Given the description of an element on the screen output the (x, y) to click on. 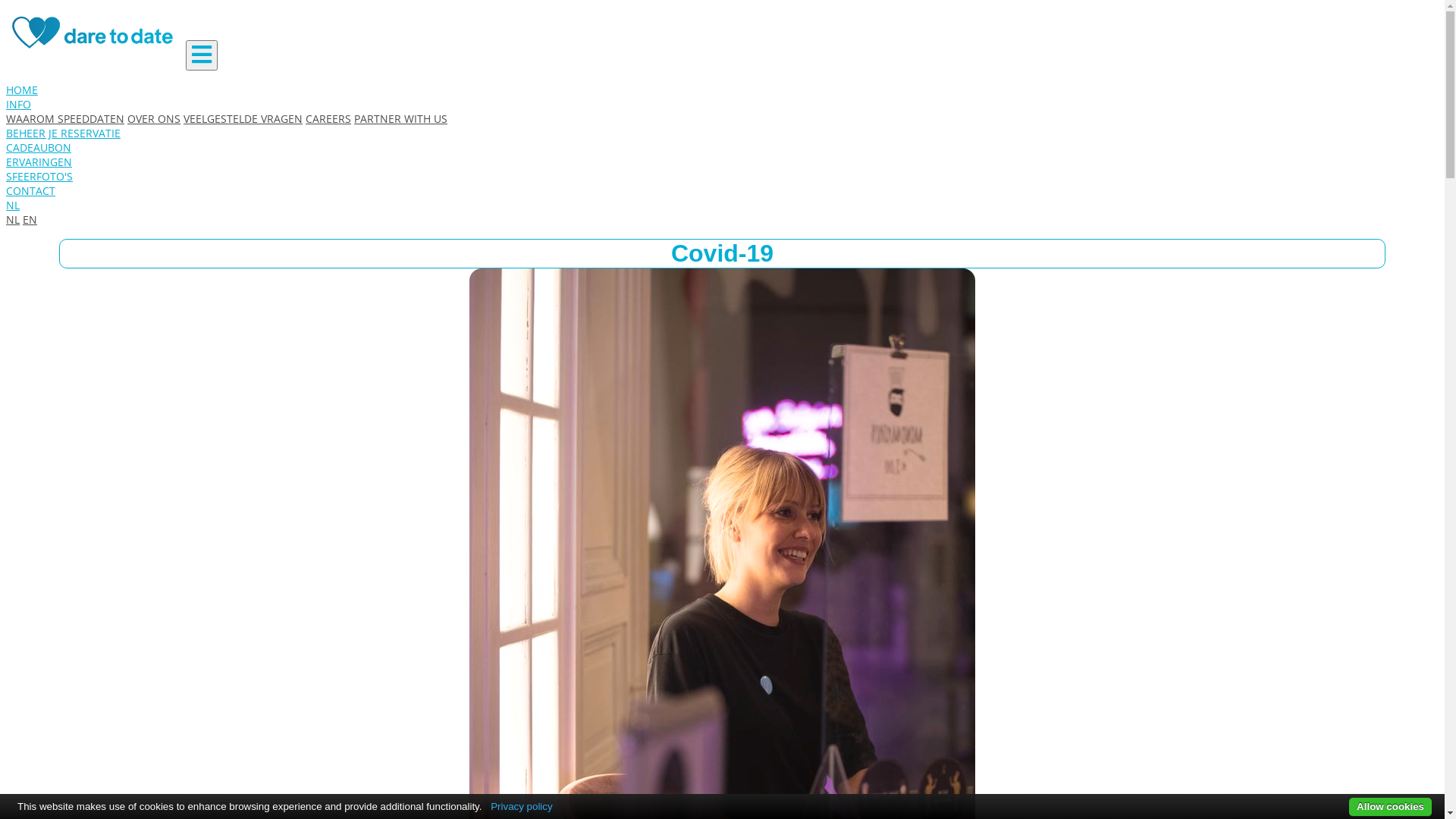
OVER ONS Element type: text (153, 118)
Allow cookies Element type: text (1390, 806)
BEHEER JE RESERVATIE Element type: text (63, 132)
CAREERS Element type: text (328, 118)
VEELGESTELDE VRAGEN Element type: text (242, 118)
HOME Element type: text (21, 89)
SFEERFOTO'S Element type: text (39, 176)
NL Element type: text (12, 204)
NL Element type: text (12, 219)
EN Element type: text (29, 219)
PARTNER WITH US Element type: text (400, 118)
WAAROM SPEEDDATEN Element type: text (65, 118)
CADEAUBON Element type: text (38, 147)
ERVARINGEN Element type: text (39, 161)
CONTACT Element type: text (30, 190)
Privacy policy Element type: text (521, 806)
INFO Element type: text (18, 104)
